Given the description of an element on the screen output the (x, y) to click on. 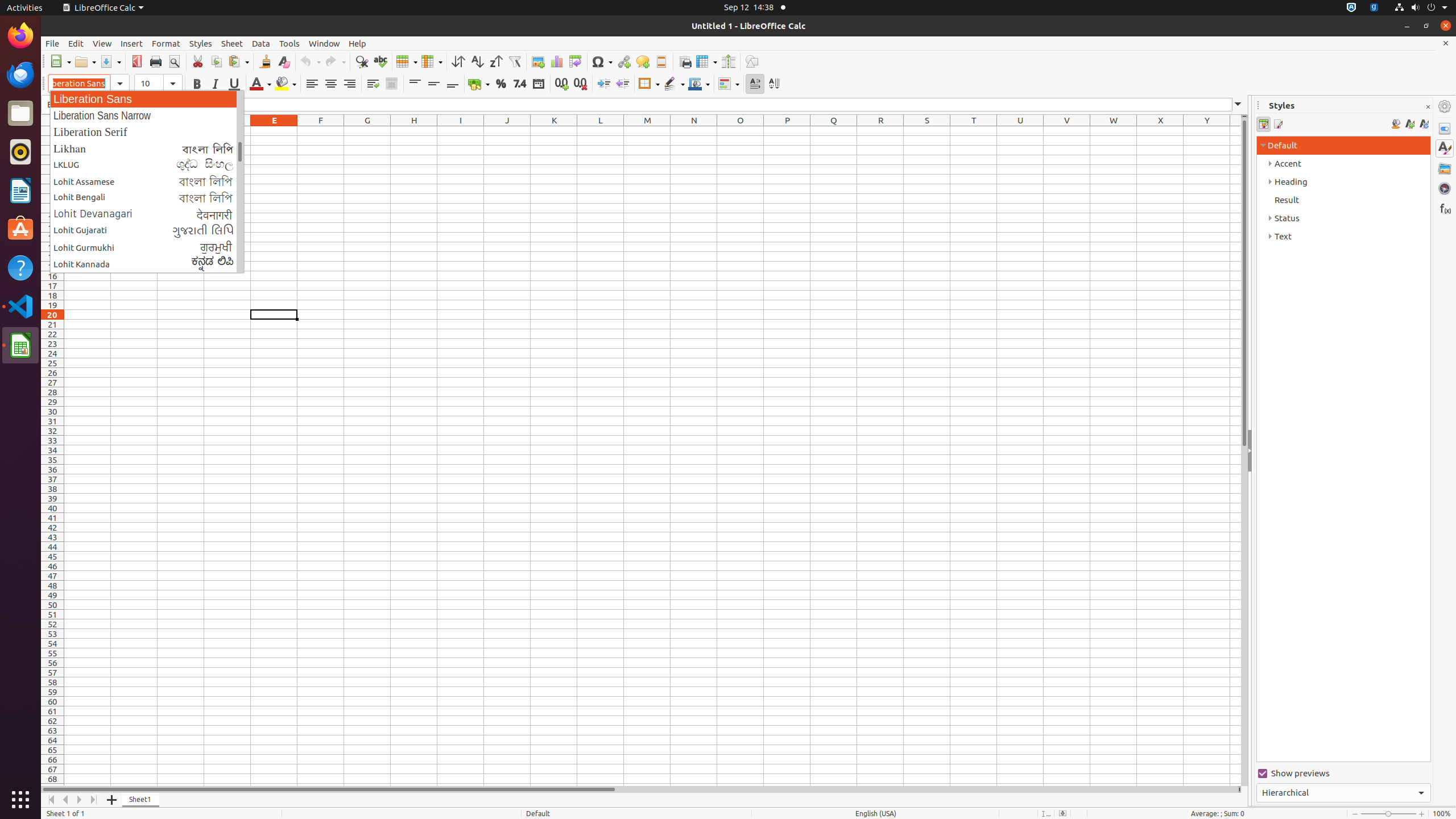
Increase Element type: push-button (603, 83)
Styles Element type: menu (200, 43)
I1 Element type: table-cell (460, 130)
Split Window Element type: push-button (727, 61)
Clear Element type: push-button (283, 61)
